Given the description of an element on the screen output the (x, y) to click on. 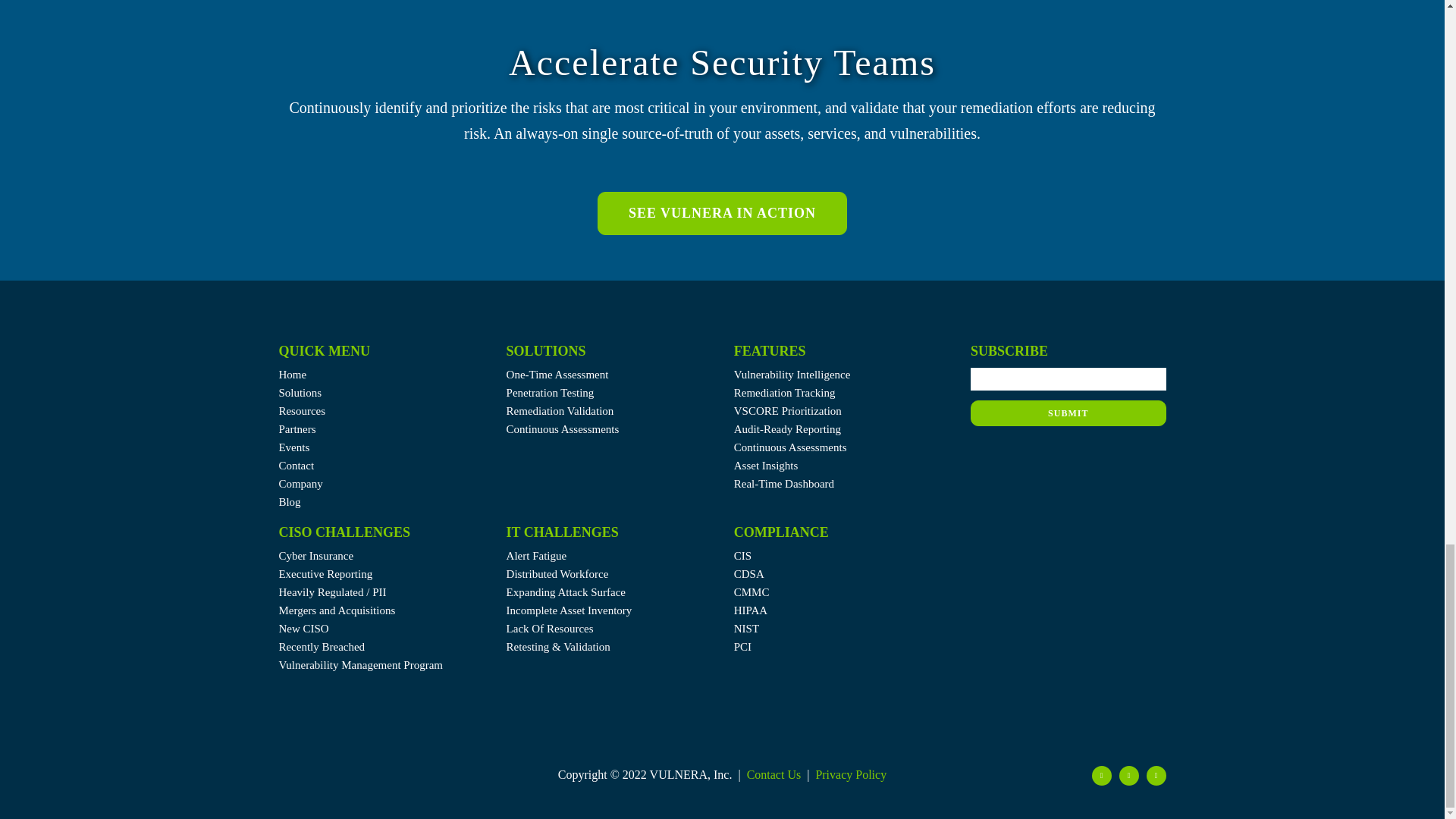
Twitter (1102, 775)
SUBMIT (1068, 399)
YouTube (1156, 775)
LinkedIn (1128, 775)
